Given the description of an element on the screen output the (x, y) to click on. 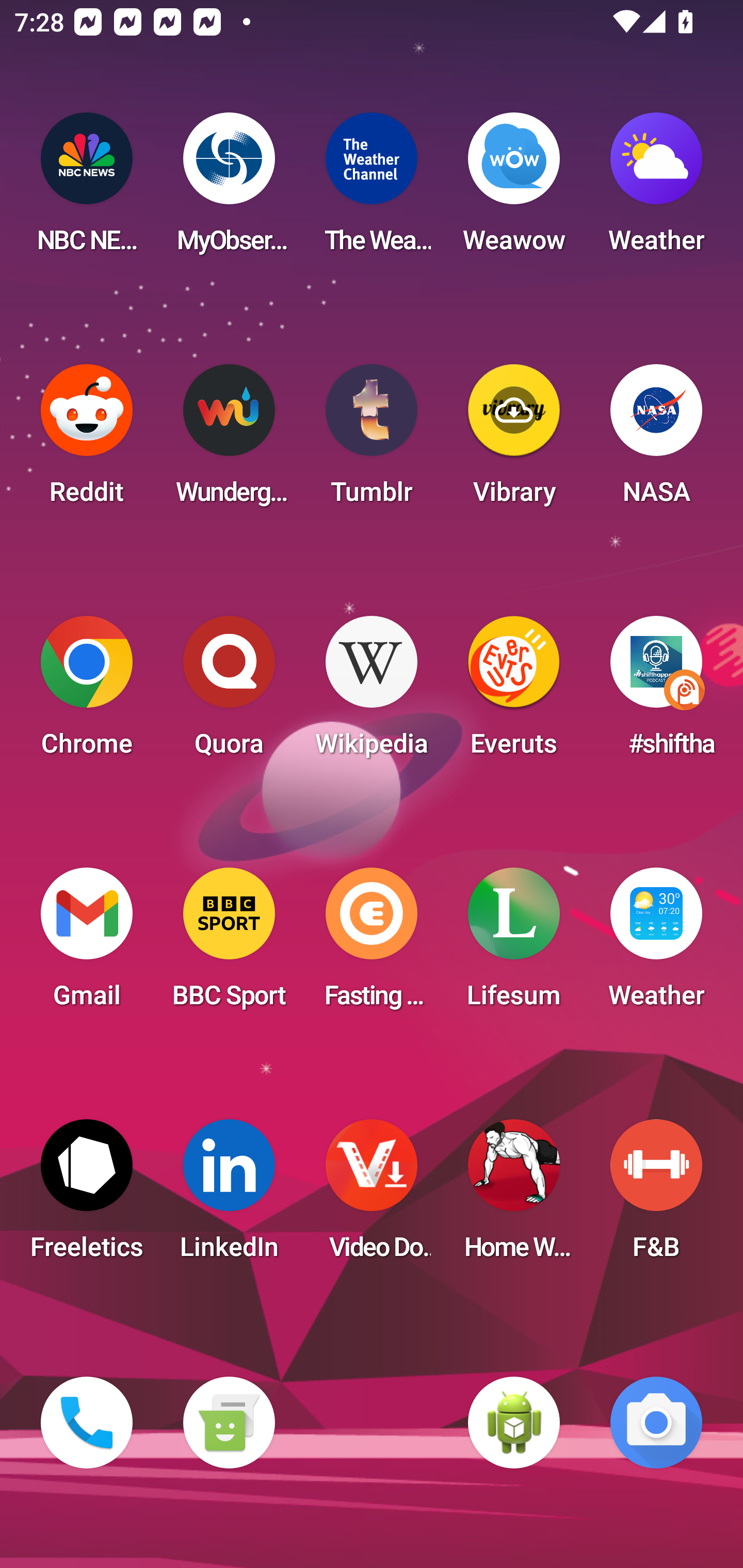
NBC NEWS (86, 188)
MyObservatory (228, 188)
The Weather Channel (371, 188)
Weawow (513, 188)
Weather (656, 188)
Reddit (86, 440)
Wunderground (228, 440)
Tumblr (371, 440)
Vibrary (513, 440)
NASA (656, 440)
Chrome (86, 692)
Quora (228, 692)
Wikipedia (371, 692)
Everuts (513, 692)
#shifthappens in the Digital Workplace Podcast (656, 692)
Gmail (86, 943)
BBC Sport (228, 943)
Fasting Coach (371, 943)
Lifesum (513, 943)
Weather (656, 943)
Freeletics (86, 1195)
LinkedIn (228, 1195)
Video Downloader & Ace Player (371, 1195)
Home Workout (513, 1195)
F&B (656, 1195)
Phone (86, 1422)
Messaging (228, 1422)
WebView Browser Tester (513, 1422)
Camera (656, 1422)
